Given the description of an element on the screen output the (x, y) to click on. 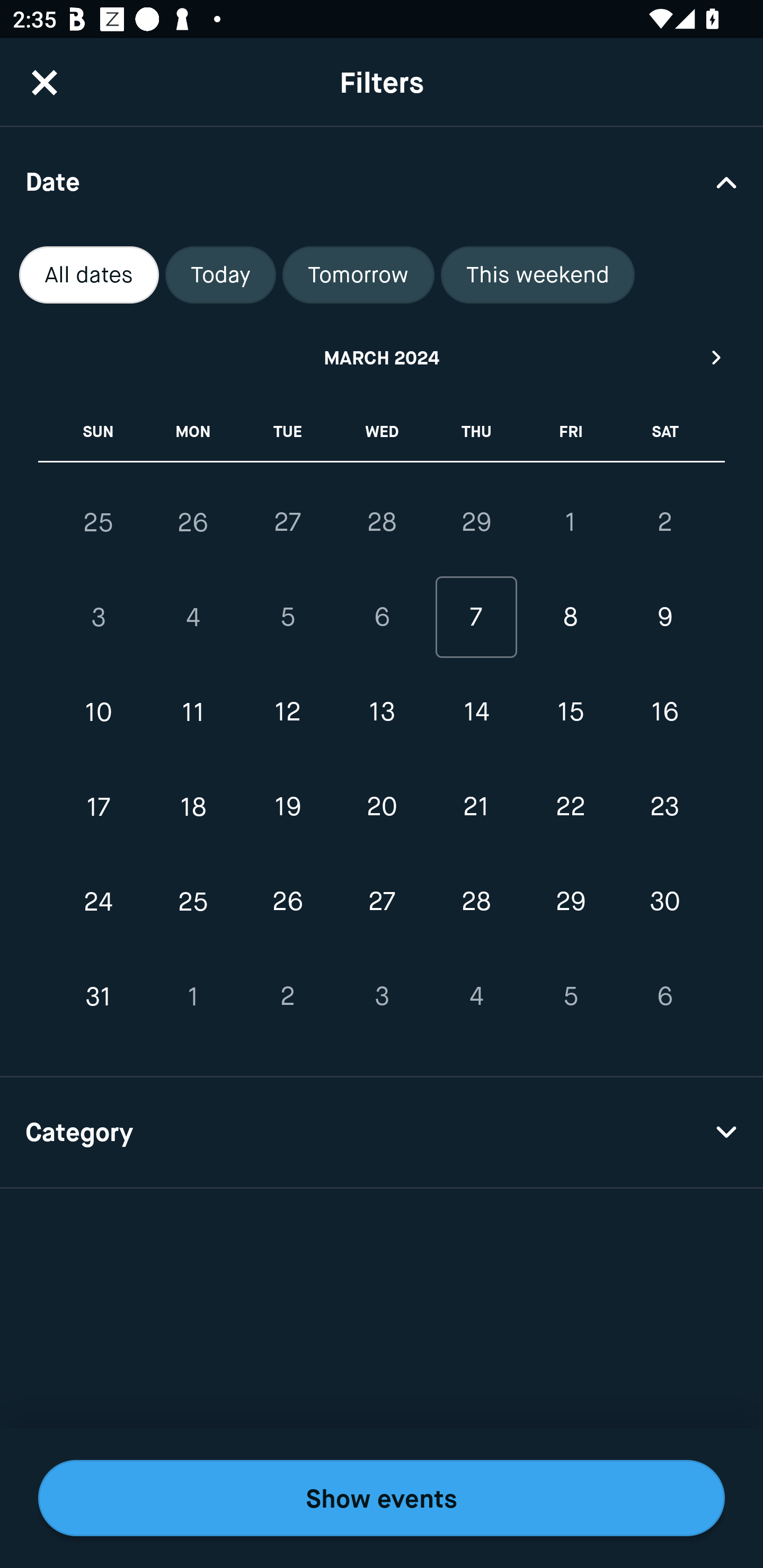
CloseButton (44, 82)
Date Drop Down Arrow (381, 181)
All dates (88, 274)
Today (220, 274)
Tomorrow (358, 274)
This weekend (537, 274)
Next (717, 357)
25 (98, 522)
26 (192, 522)
27 (287, 522)
28 (381, 522)
29 (475, 522)
1 (570, 522)
2 (664, 522)
3 (98, 617)
4 (192, 617)
5 (287, 617)
6 (381, 617)
7 (475, 617)
8 (570, 617)
9 (664, 617)
10 (98, 711)
11 (192, 711)
12 (287, 711)
13 (381, 711)
14 (475, 711)
15 (570, 711)
16 (664, 711)
17 (98, 806)
18 (192, 806)
19 (287, 806)
20 (381, 806)
21 (475, 806)
22 (570, 806)
23 (664, 806)
24 (98, 901)
25 (192, 901)
26 (287, 901)
27 (381, 901)
28 (475, 901)
29 (570, 901)
30 (664, 901)
31 (98, 996)
1 (192, 996)
2 (287, 996)
3 (381, 996)
4 (475, 996)
5 (570, 996)
6 (664, 996)
Category Drop Down Arrow (381, 1132)
Show events (381, 1497)
